Given the description of an element on the screen output the (x, y) to click on. 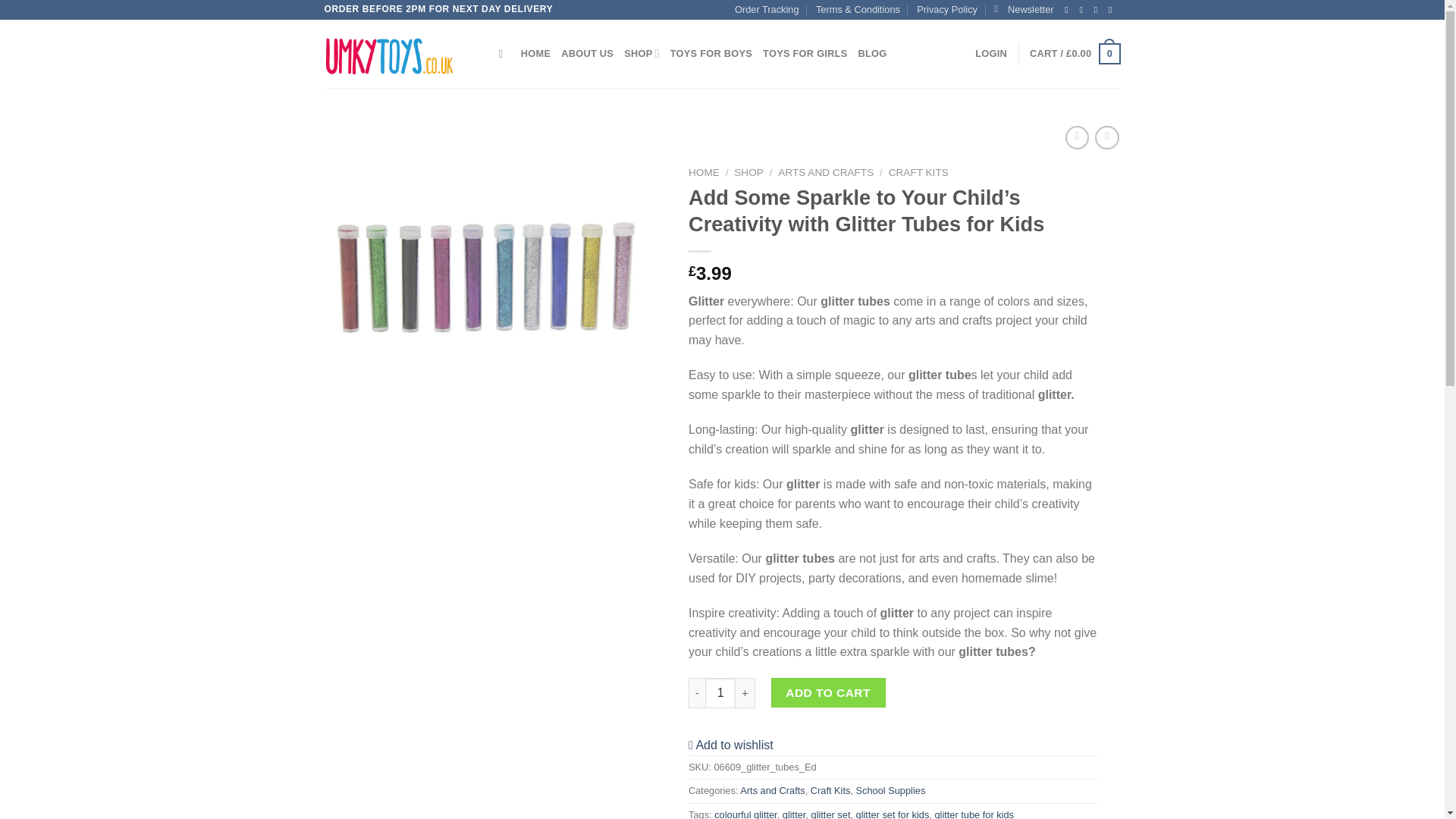
ABOUT US (586, 53)
Newsletter (1023, 9)
UMKYTOYS - Toys For Everyone (400, 53)
1 (719, 693)
Sign up for Newsletter (1023, 9)
Cart (1074, 53)
Privacy Policy (946, 9)
HOME (535, 53)
glittertube (483, 276)
Order Tracking (767, 9)
